Given the description of an element on the screen output the (x, y) to click on. 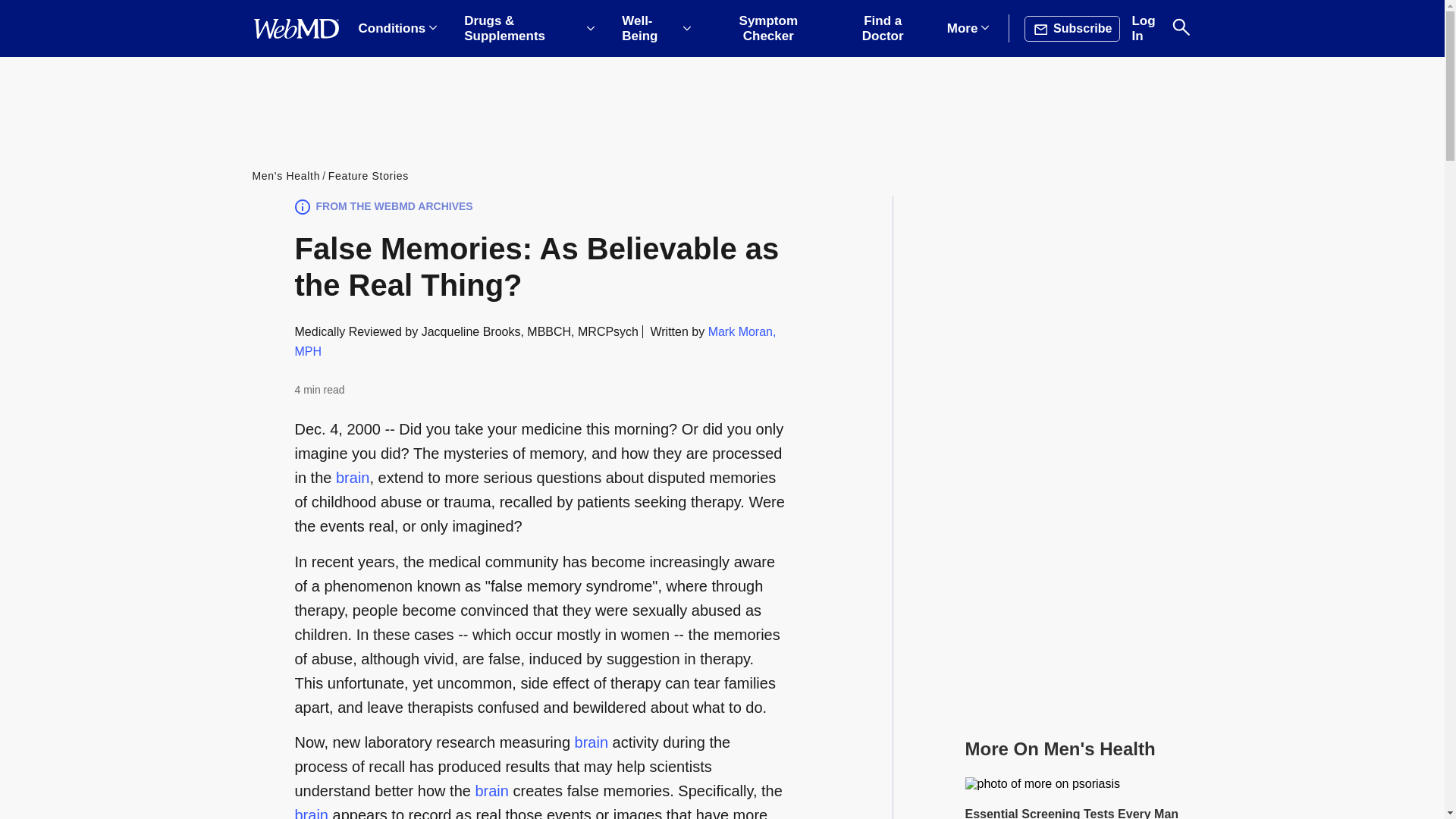
Conditions (397, 28)
